Given the description of an element on the screen output the (x, y) to click on. 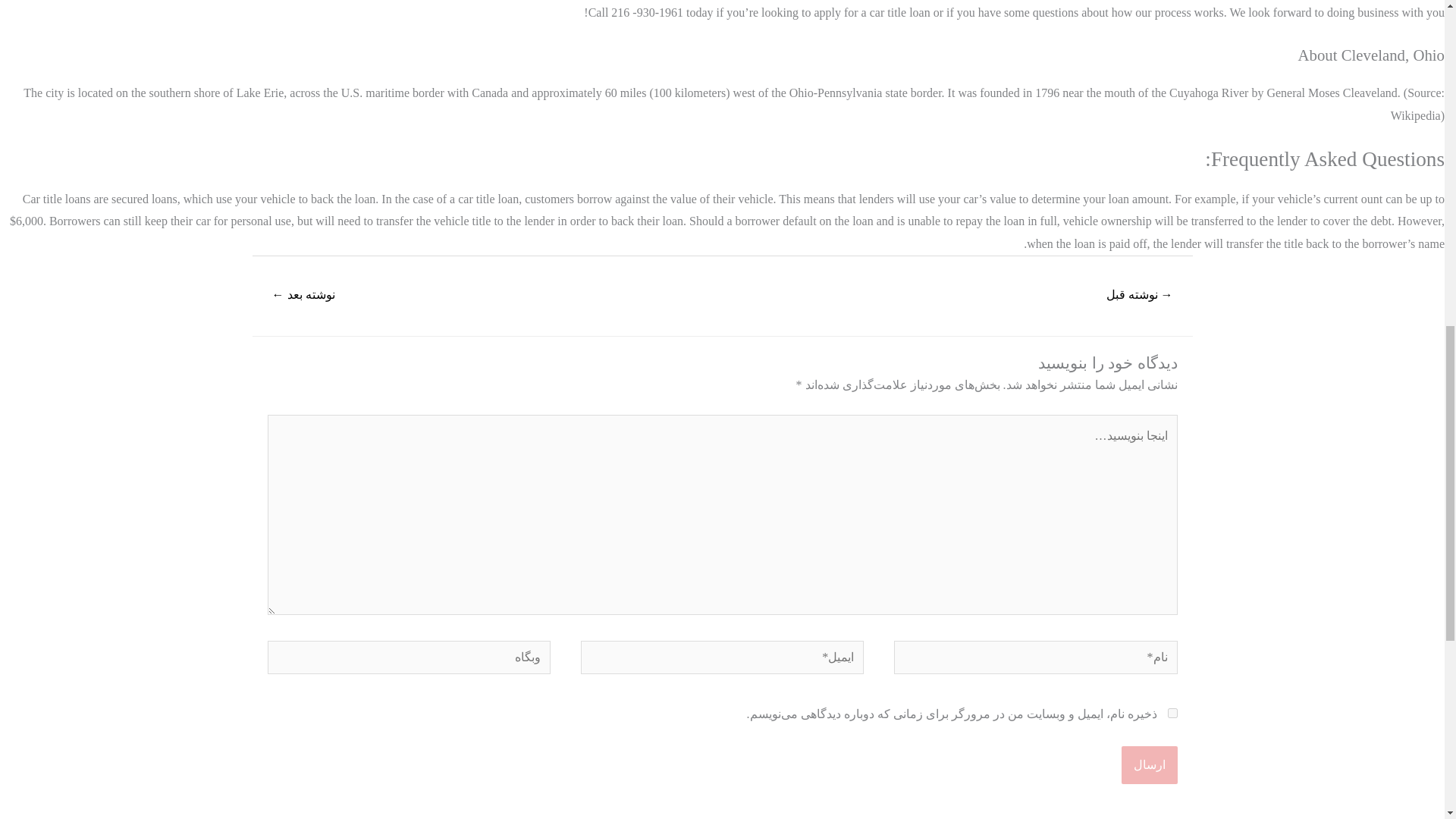
yes (1172, 713)
